Given the description of an element on the screen output the (x, y) to click on. 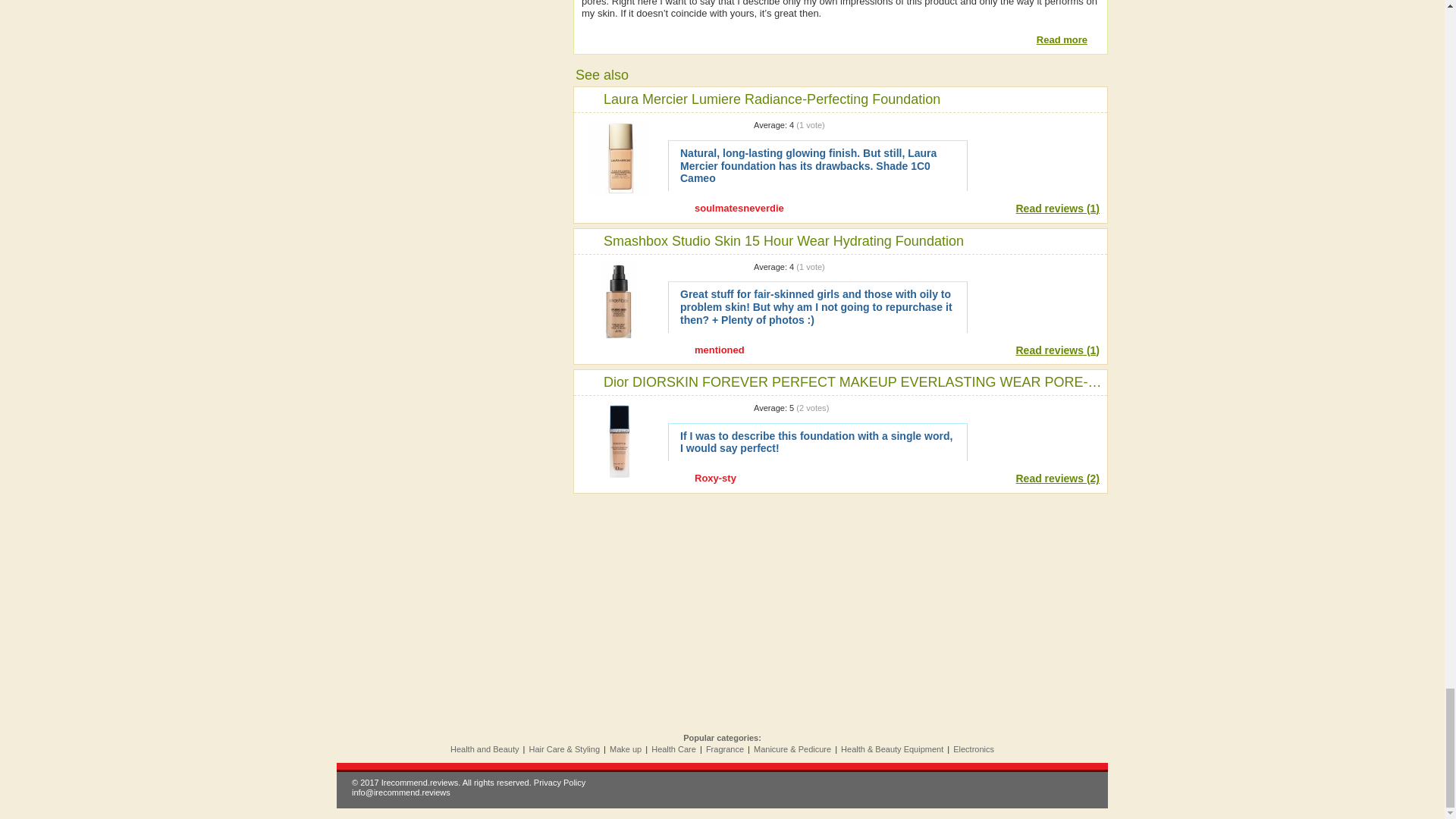
Write a review (1037, 429)
Write a review (1037, 146)
Write a review (1037, 288)
